Given the description of an element on the screen output the (x, y) to click on. 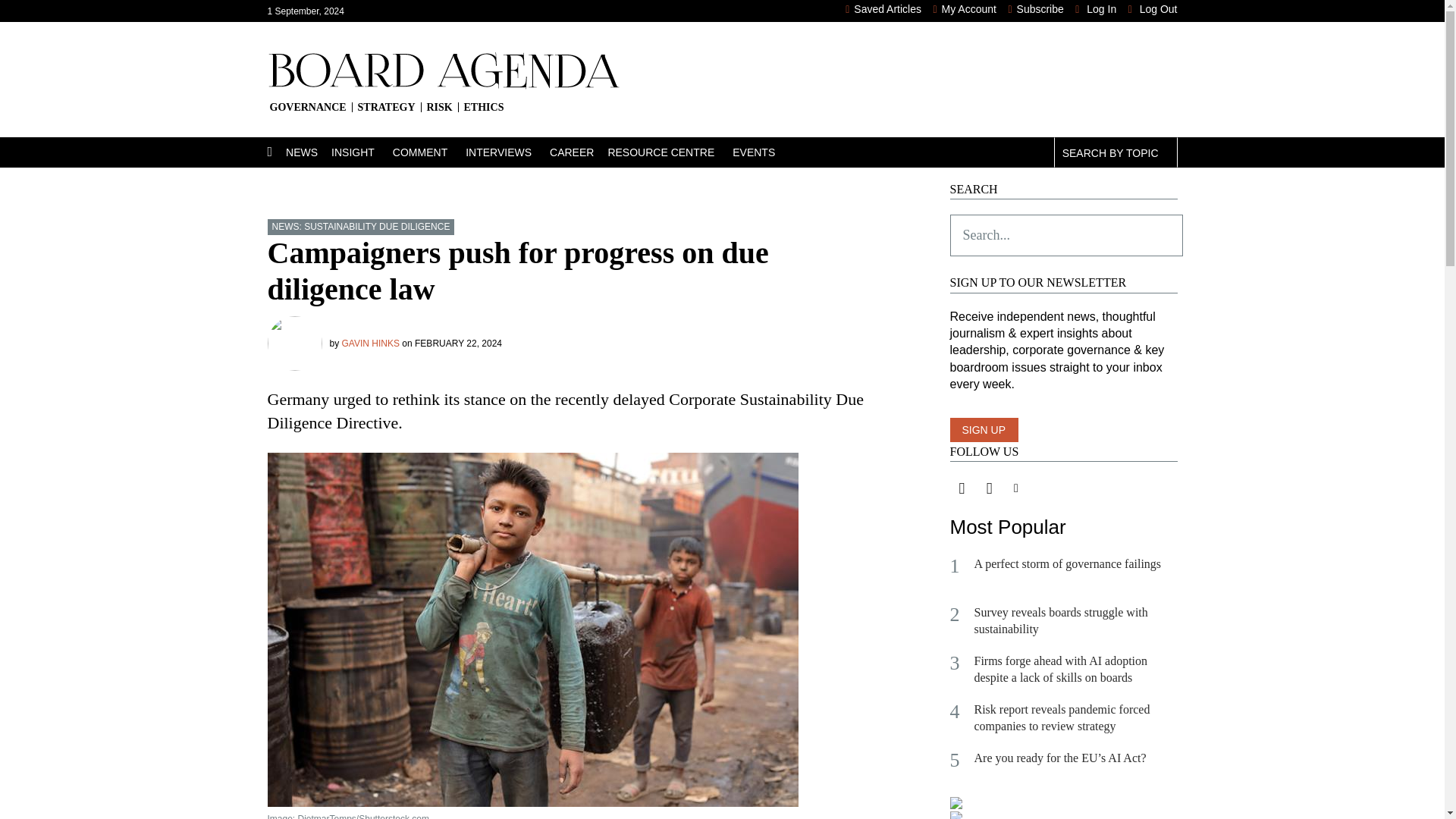
INSIGHT (362, 152)
NEWS (308, 152)
COMMENT (429, 152)
Posts by Gavin Hinks (370, 343)
Log In (1095, 9)
Saved Articles (883, 9)
INTERVIEWS (507, 152)
My Account (964, 9)
Log Out (1152, 9)
Subscribe (1034, 9)
